Given the description of an element on the screen output the (x, y) to click on. 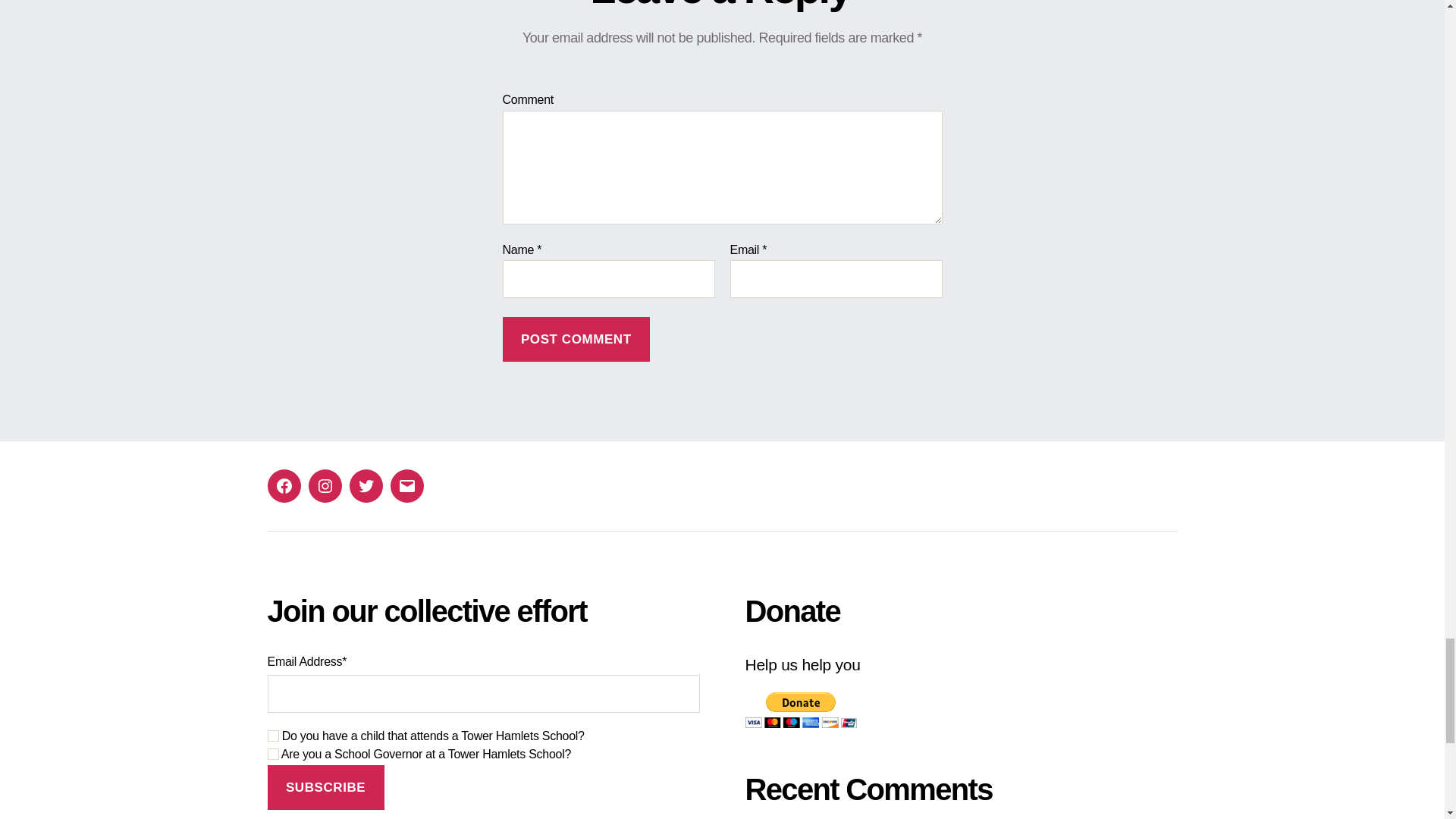
Subscribe (325, 786)
Post Comment (575, 338)
1 (272, 736)
1 (272, 754)
